Given the description of an element on the screen output the (x, y) to click on. 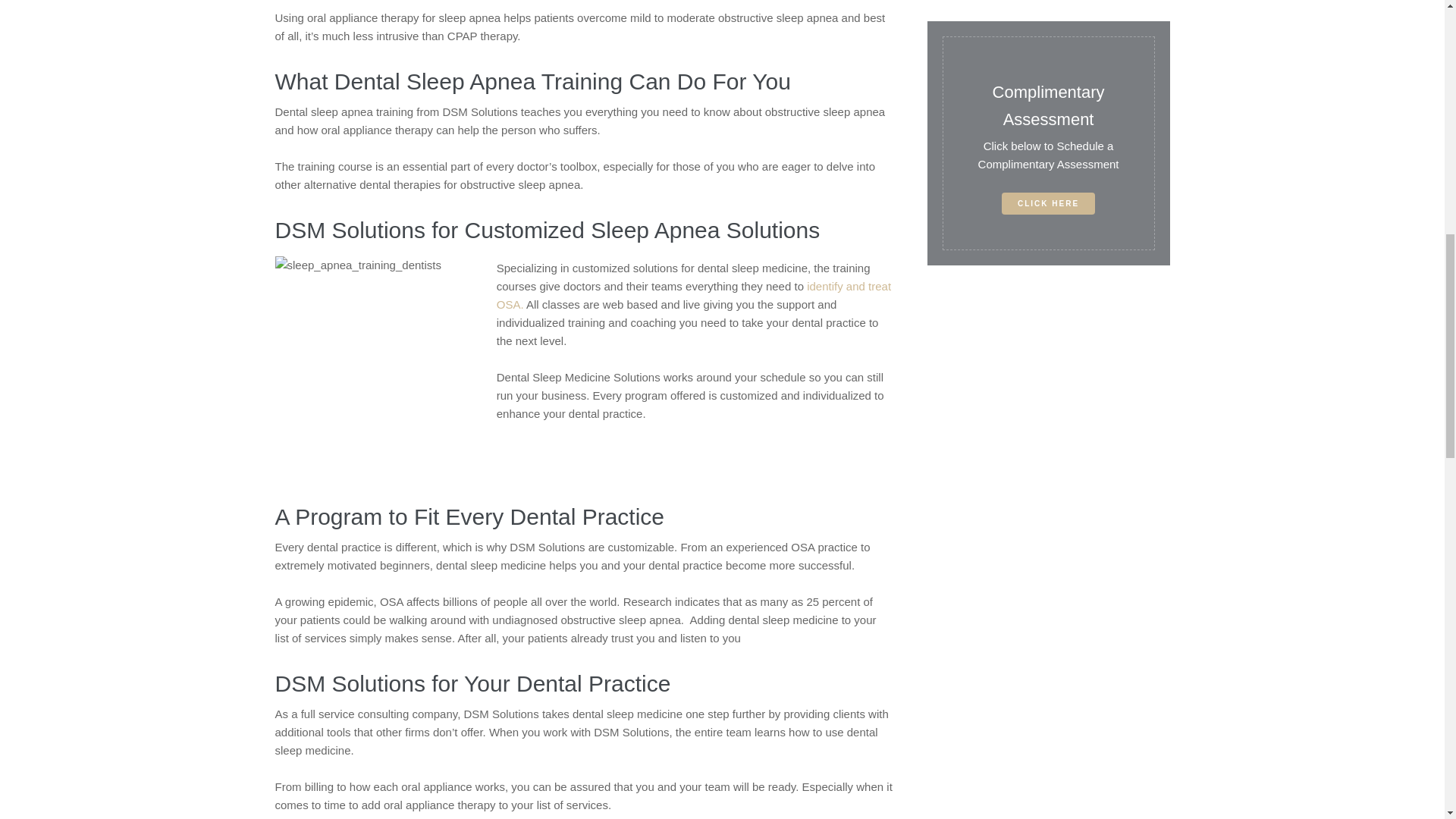
CLICK HERE (1047, 203)
identify and treat OSA. (693, 295)
